Given the description of an element on the screen output the (x, y) to click on. 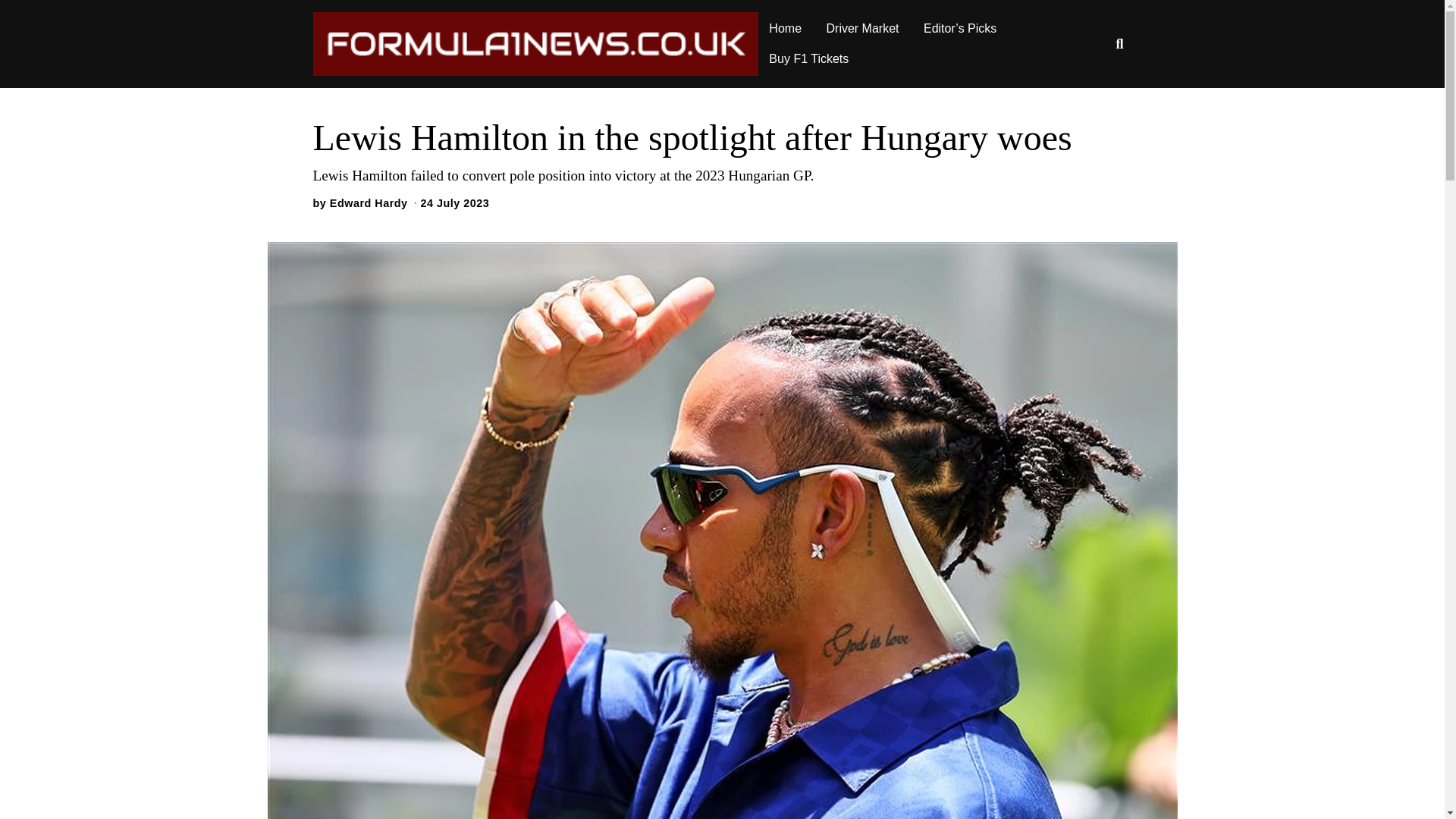
Driver Market (862, 28)
Edward Hardy (368, 203)
Buy F1 Tickets (808, 59)
Home (785, 28)
